Given the description of an element on the screen output the (x, y) to click on. 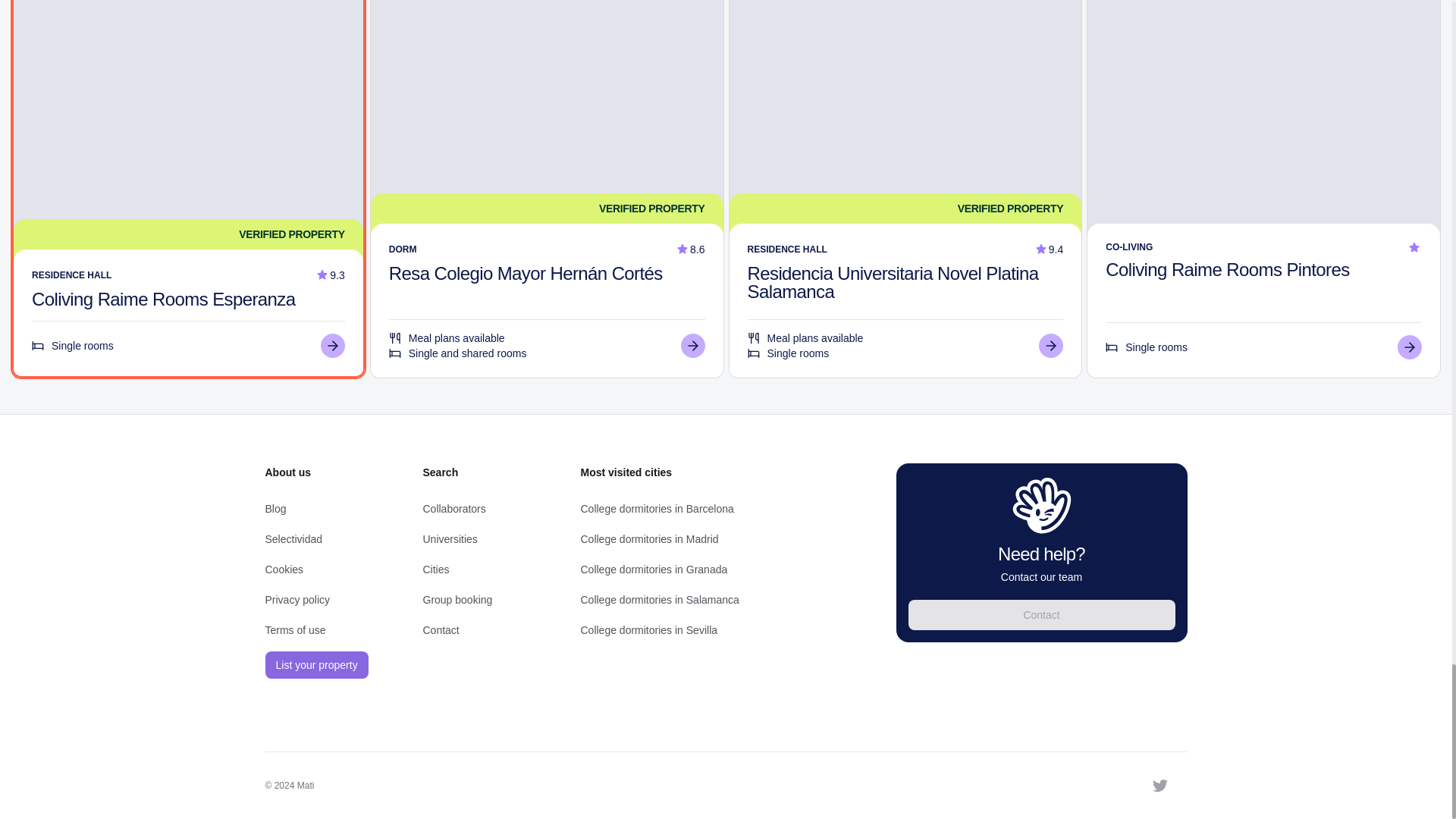
Residencia Universitaria Novel Platina Salamanca (893, 282)
Coliving Raime Rooms Esperanza (163, 299)
Privacy policy (297, 599)
Blog (275, 508)
Cookies (284, 569)
Coliving Raime Rooms Pintores (1227, 269)
Selectividad (293, 539)
